Given the description of an element on the screen output the (x, y) to click on. 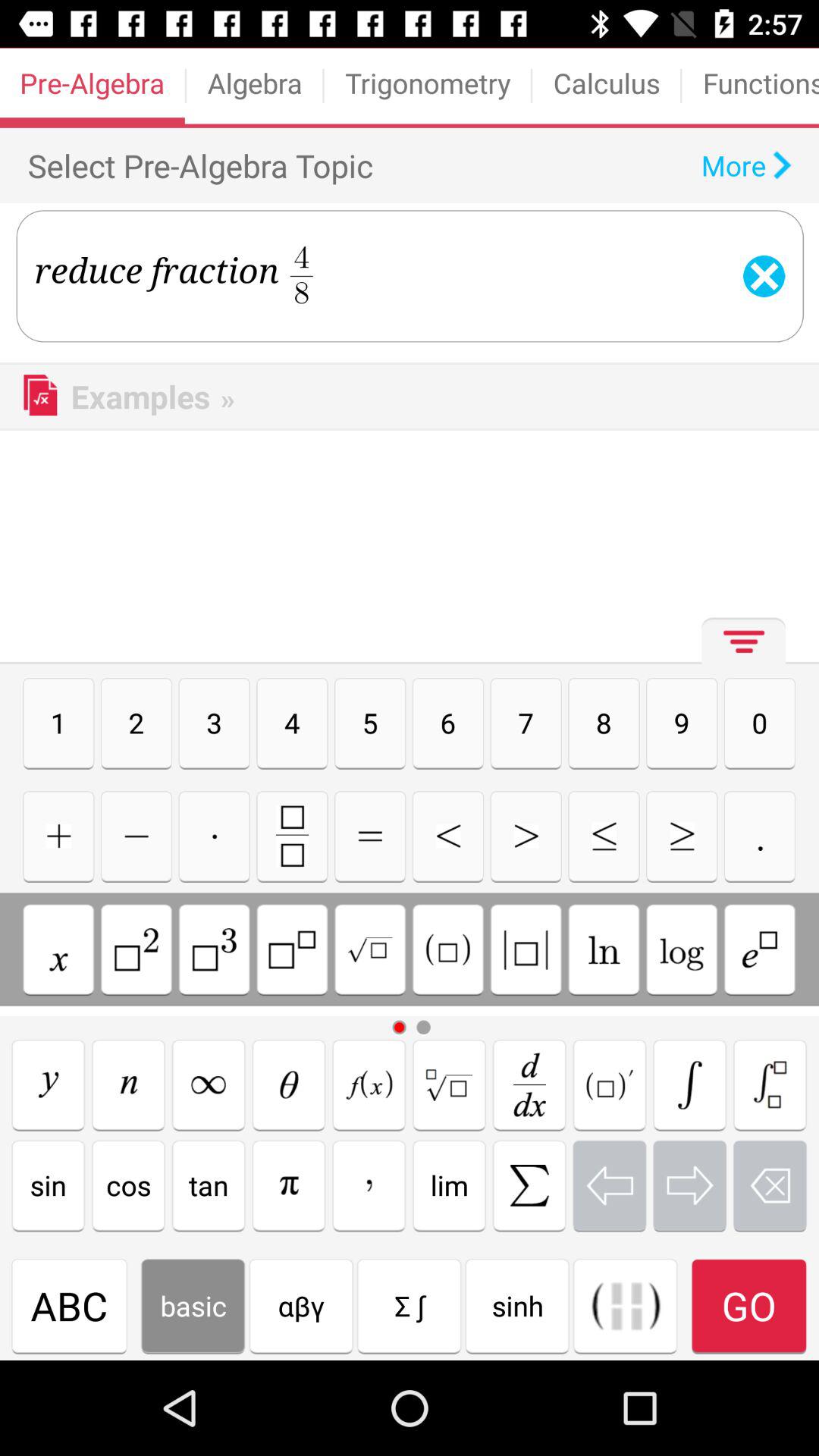
dot symbol (214, 835)
